Given the description of an element on the screen output the (x, y) to click on. 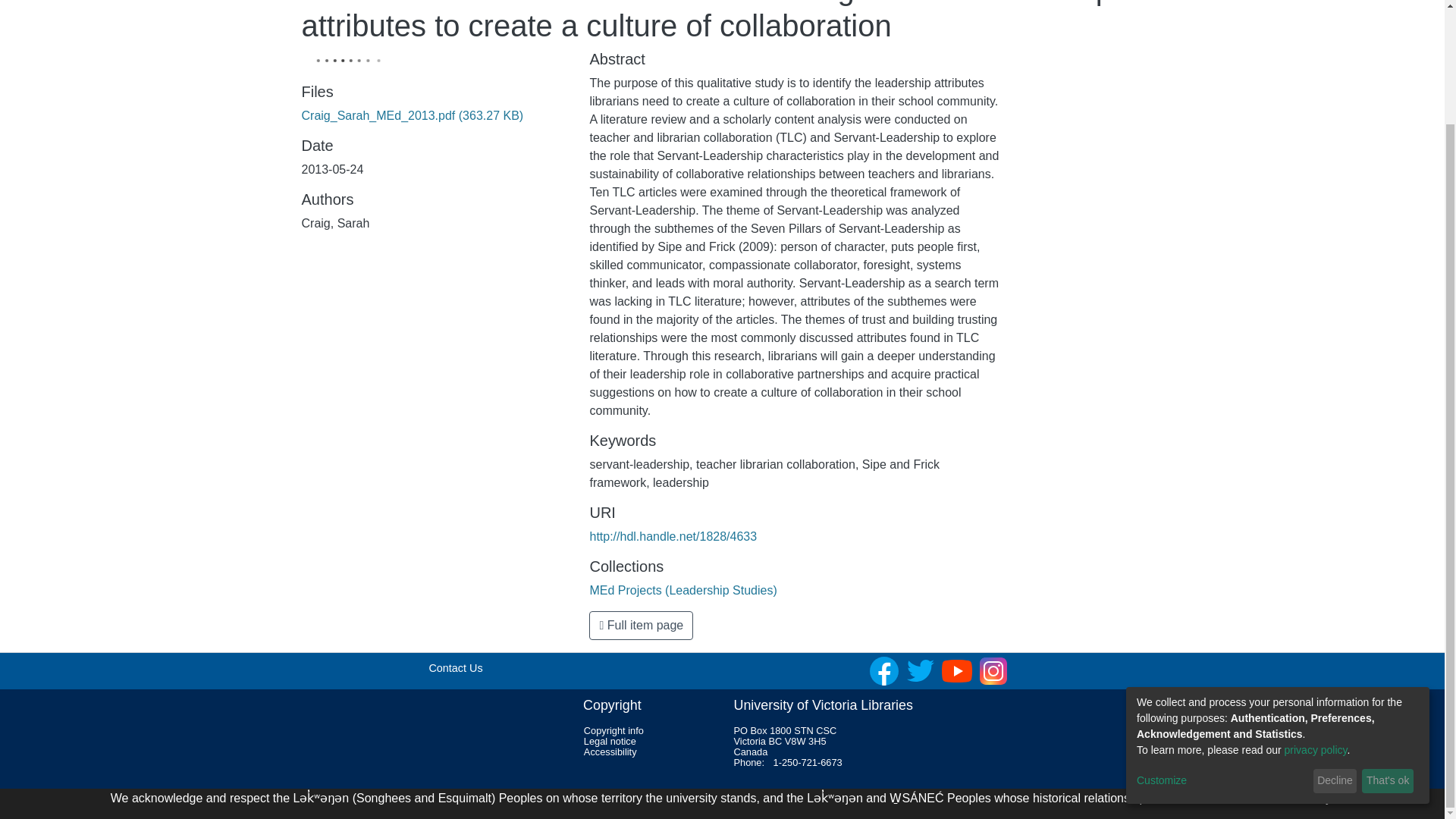
Full item page (641, 624)
Contact Us (454, 667)
